Given the description of an element on the screen output the (x, y) to click on. 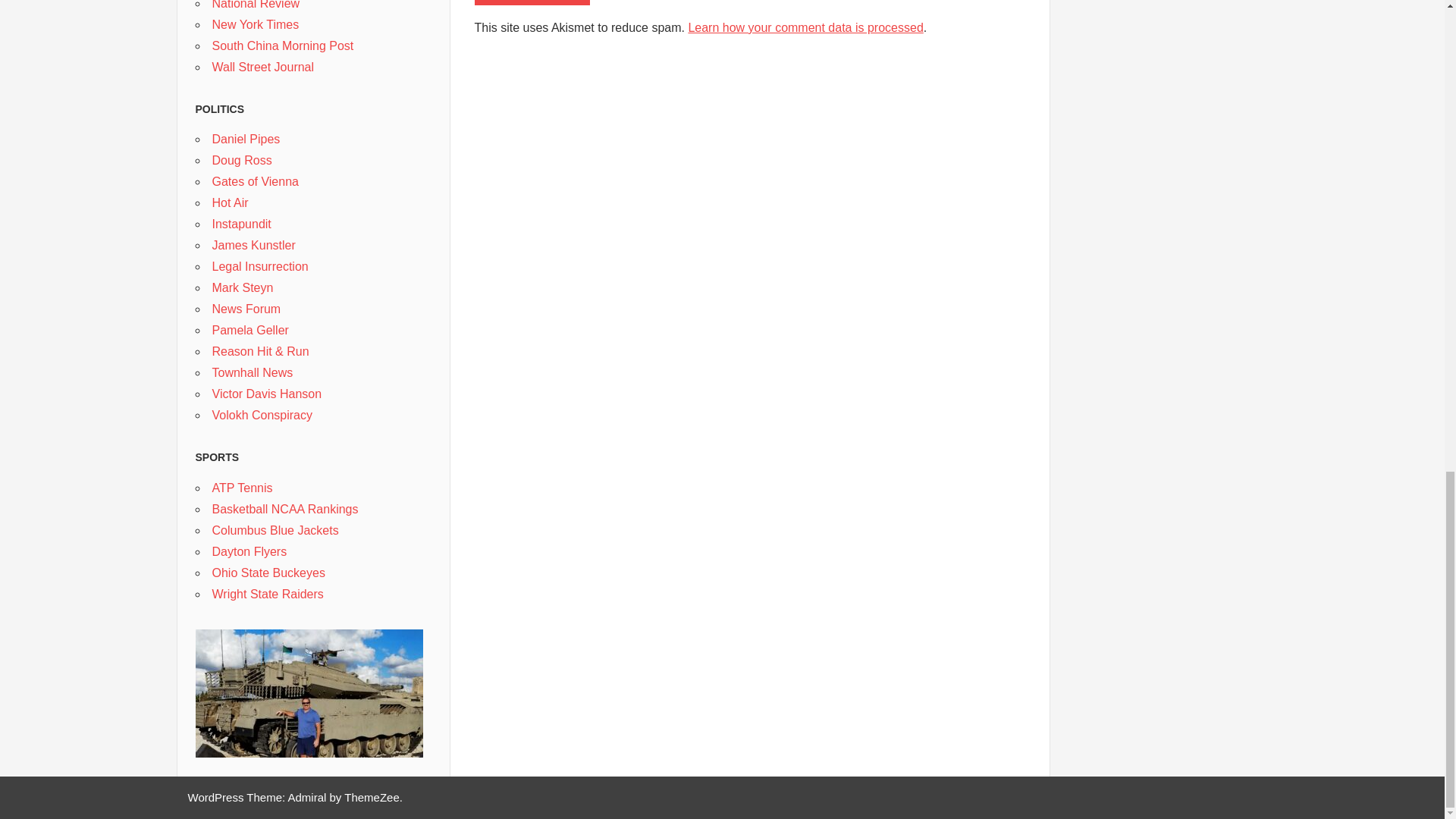
Learn how your comment data is processed (805, 27)
Post Comment (532, 2)
Post Comment (532, 2)
